Given the description of an element on the screen output the (x, y) to click on. 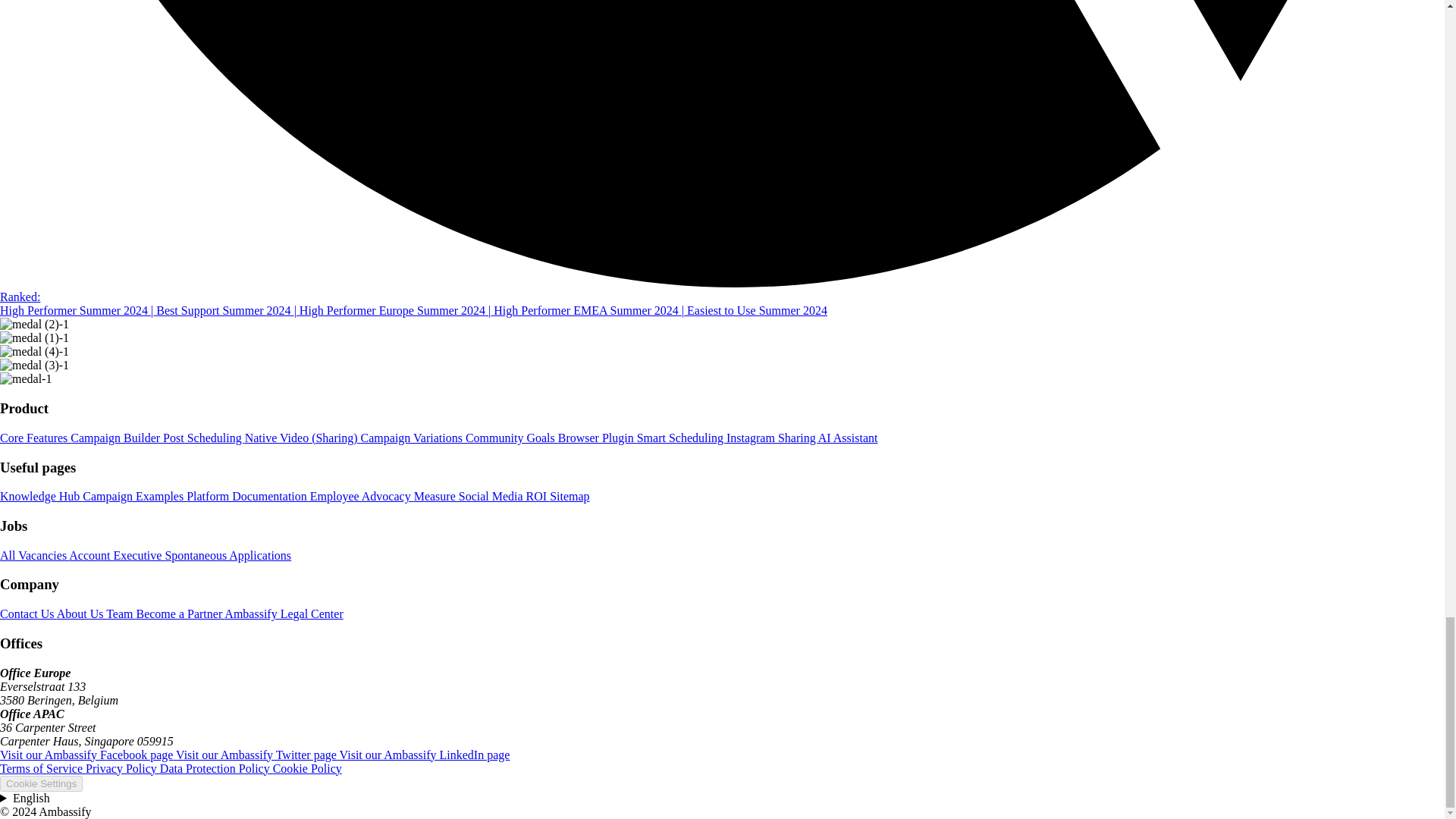
Visit our Ambassify LinkedIn page (425, 754)
Visit our Ambassify Twitter page (257, 754)
Visit our Ambassify Facebook page (88, 754)
